Given the description of an element on the screen output the (x, y) to click on. 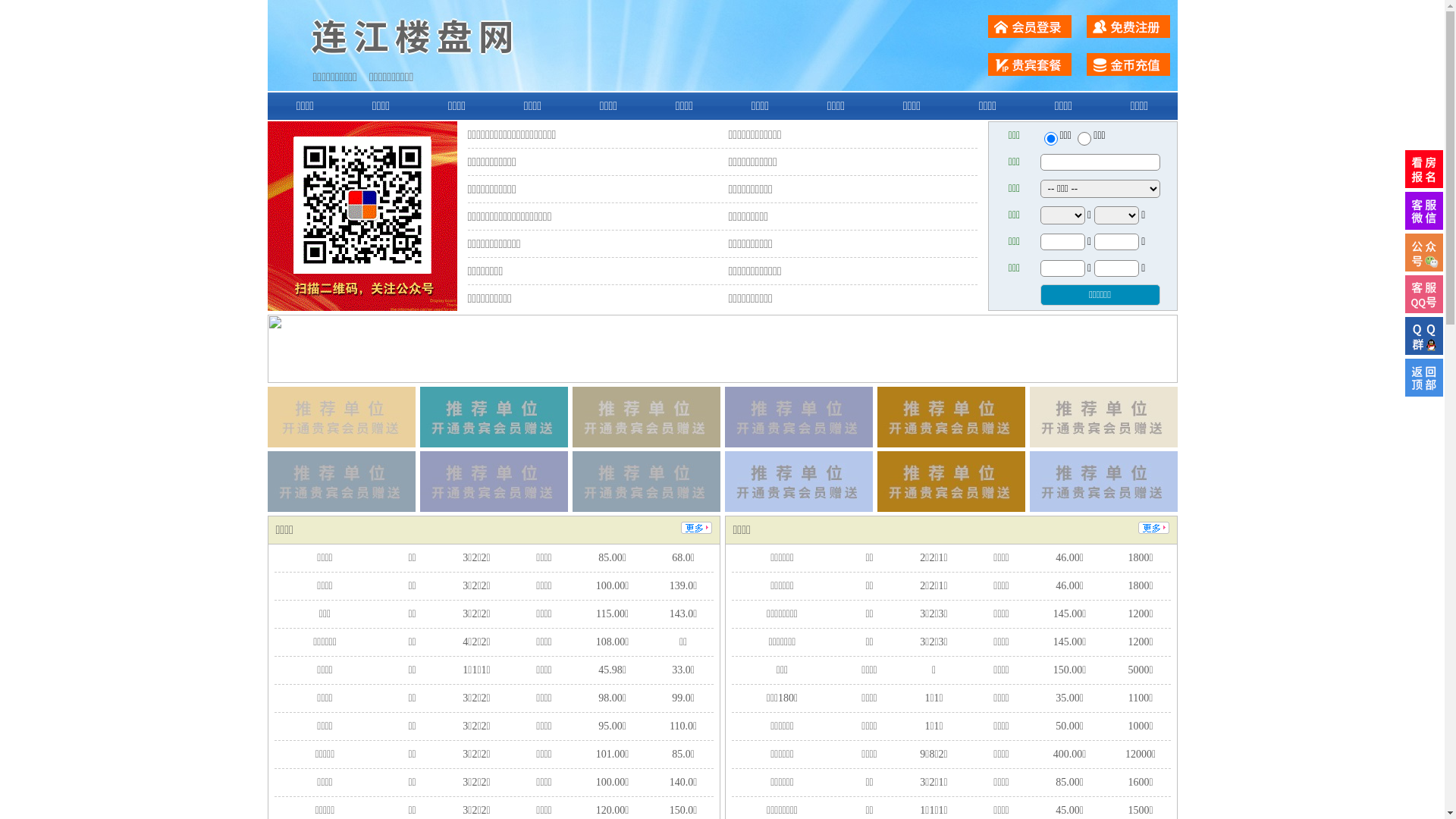
chuzu Element type: text (1084, 138)
ershou Element type: text (1050, 138)
